Given the description of an element on the screen output the (x, y) to click on. 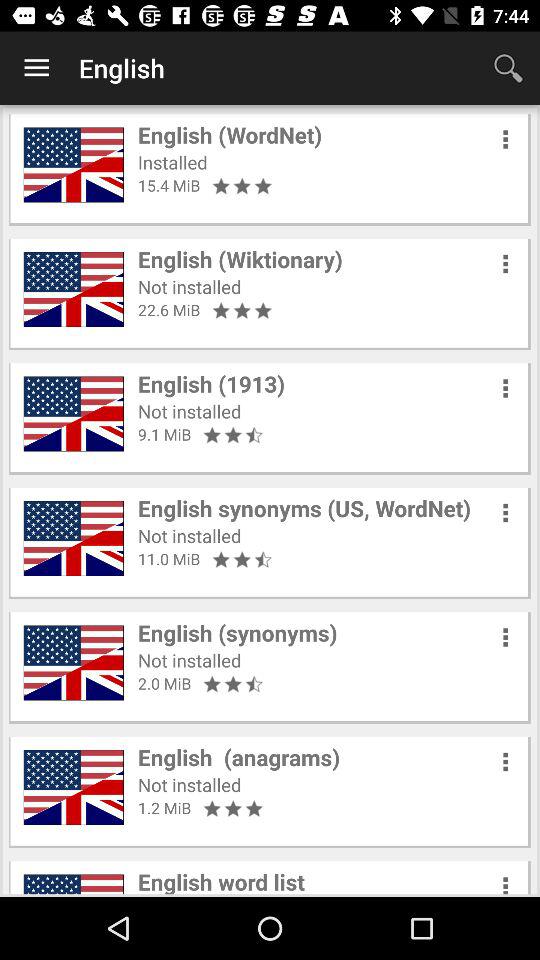
swipe to 22.6 mib item (169, 309)
